Given the description of an element on the screen output the (x, y) to click on. 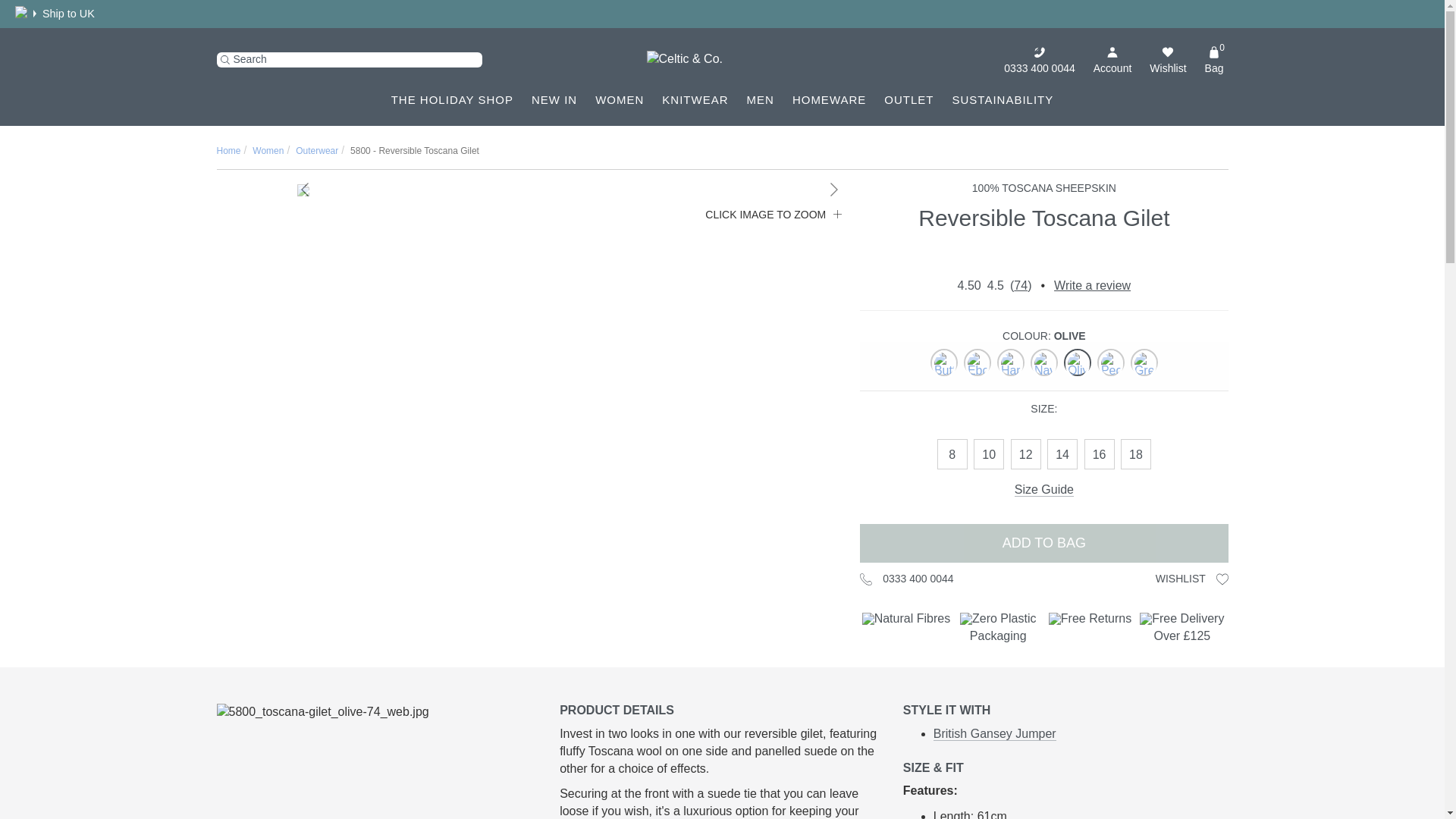
Knitwear (695, 99)
Men (760, 99)
Sustainability (1003, 99)
Outlet (908, 99)
Homeware (829, 99)
Women (619, 99)
New In (553, 99)
The Holiday Shop (452, 99)
